Given the description of an element on the screen output the (x, y) to click on. 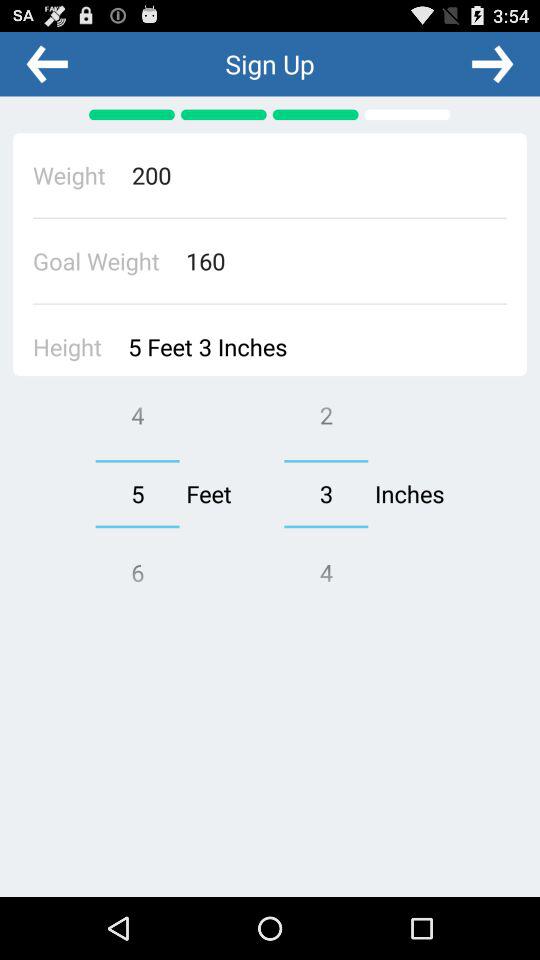
go forward (492, 63)
